Given the description of an element on the screen output the (x, y) to click on. 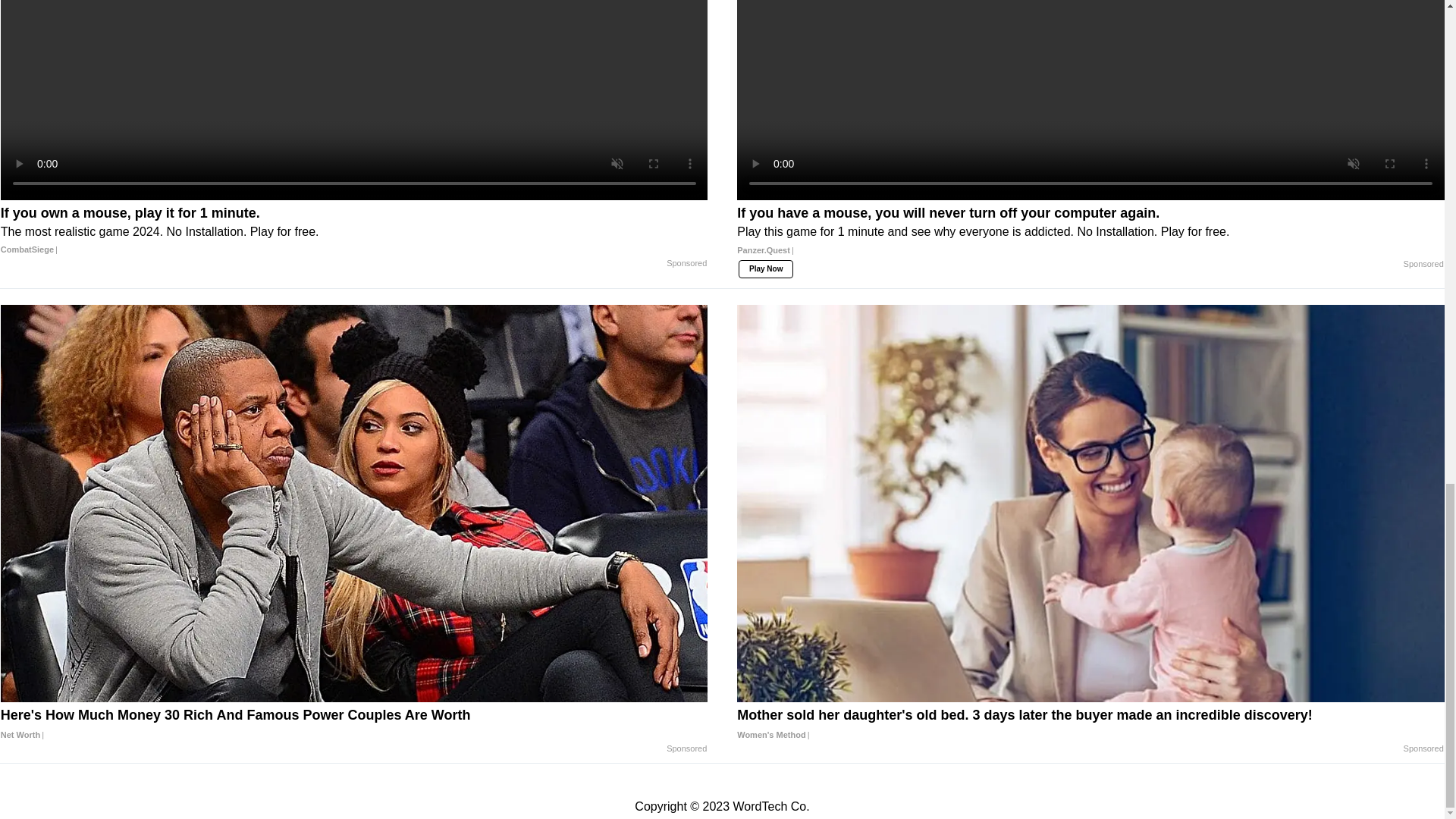
Sponsored (686, 748)
Sponsored (1423, 264)
If you own a mouse, play it for 1 minute. (354, 230)
Sponsored (1423, 748)
Play Now (765, 269)
Sponsored (686, 263)
